Given the description of an element on the screen output the (x, y) to click on. 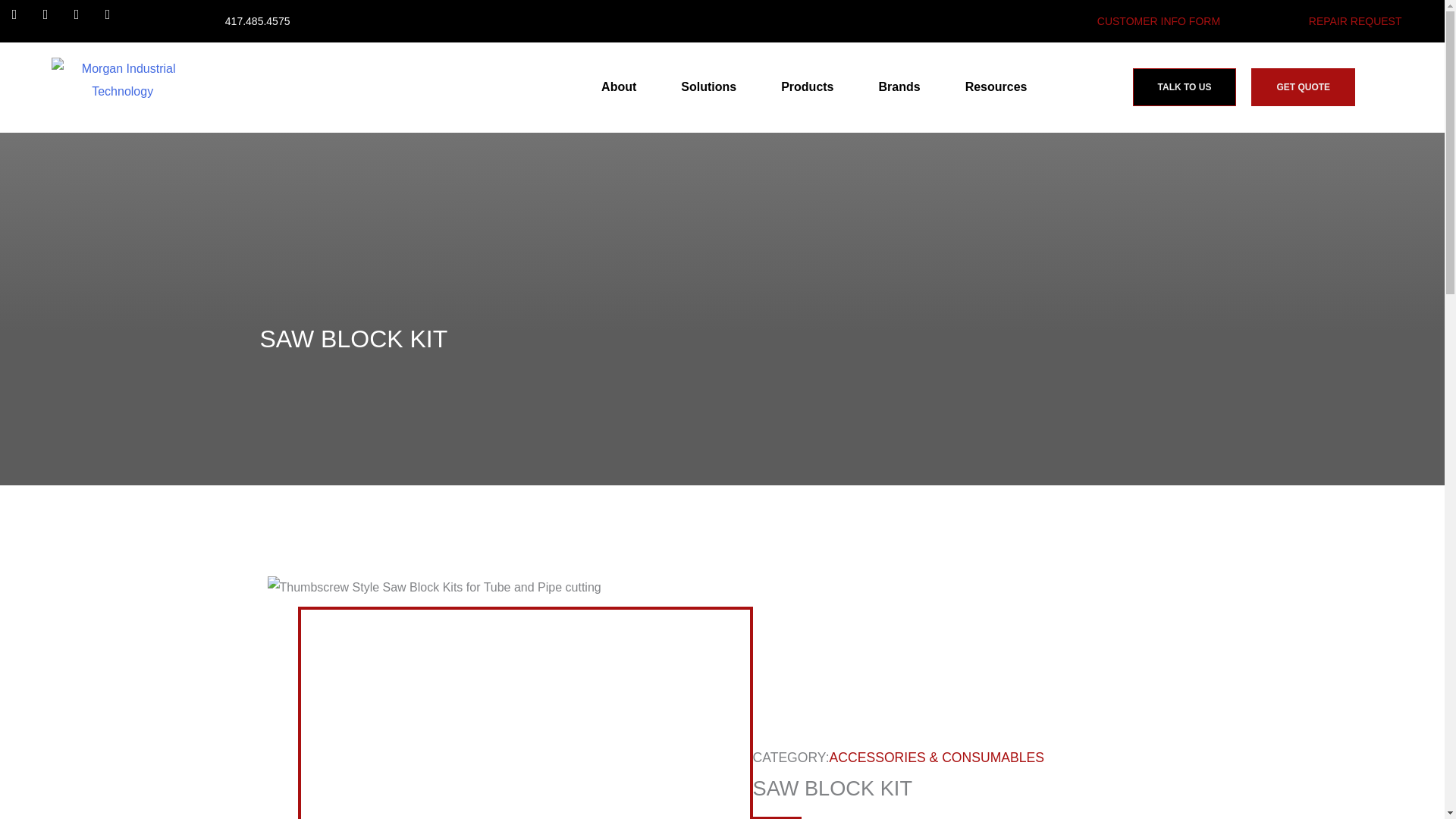
Youtube (83, 21)
TALK TO US (1184, 86)
REPAIR REQUEST (1355, 21)
GET QUOTE (1302, 86)
Solutions (712, 86)
Facebook (20, 21)
Resources (999, 86)
About (622, 86)
CUSTOMER INFO FORM (1158, 21)
Brands (903, 86)
Products (810, 86)
Instagram (52, 21)
Tiktok (114, 21)
